Given the description of an element on the screen output the (x, y) to click on. 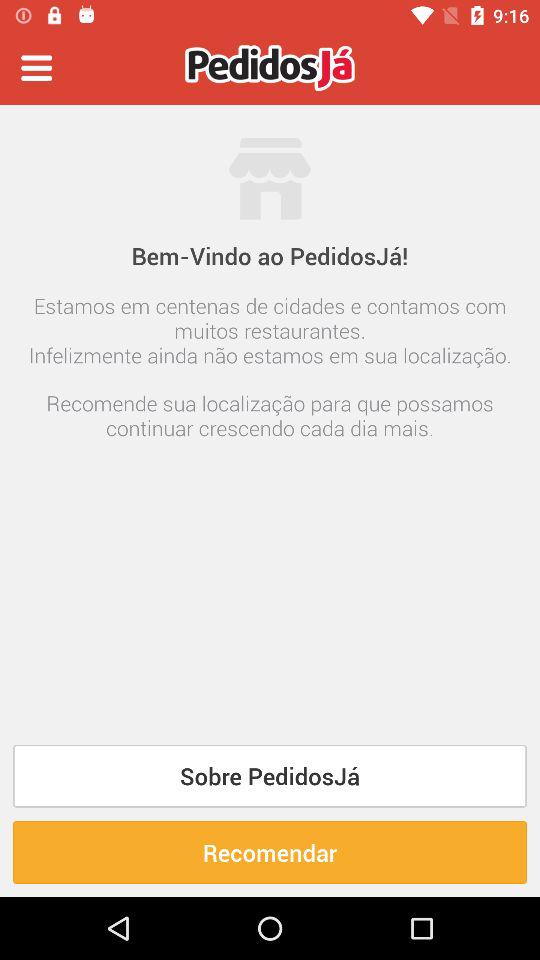
choose the icon above bem vindo ao (270, 132)
